Given the description of an element on the screen output the (x, y) to click on. 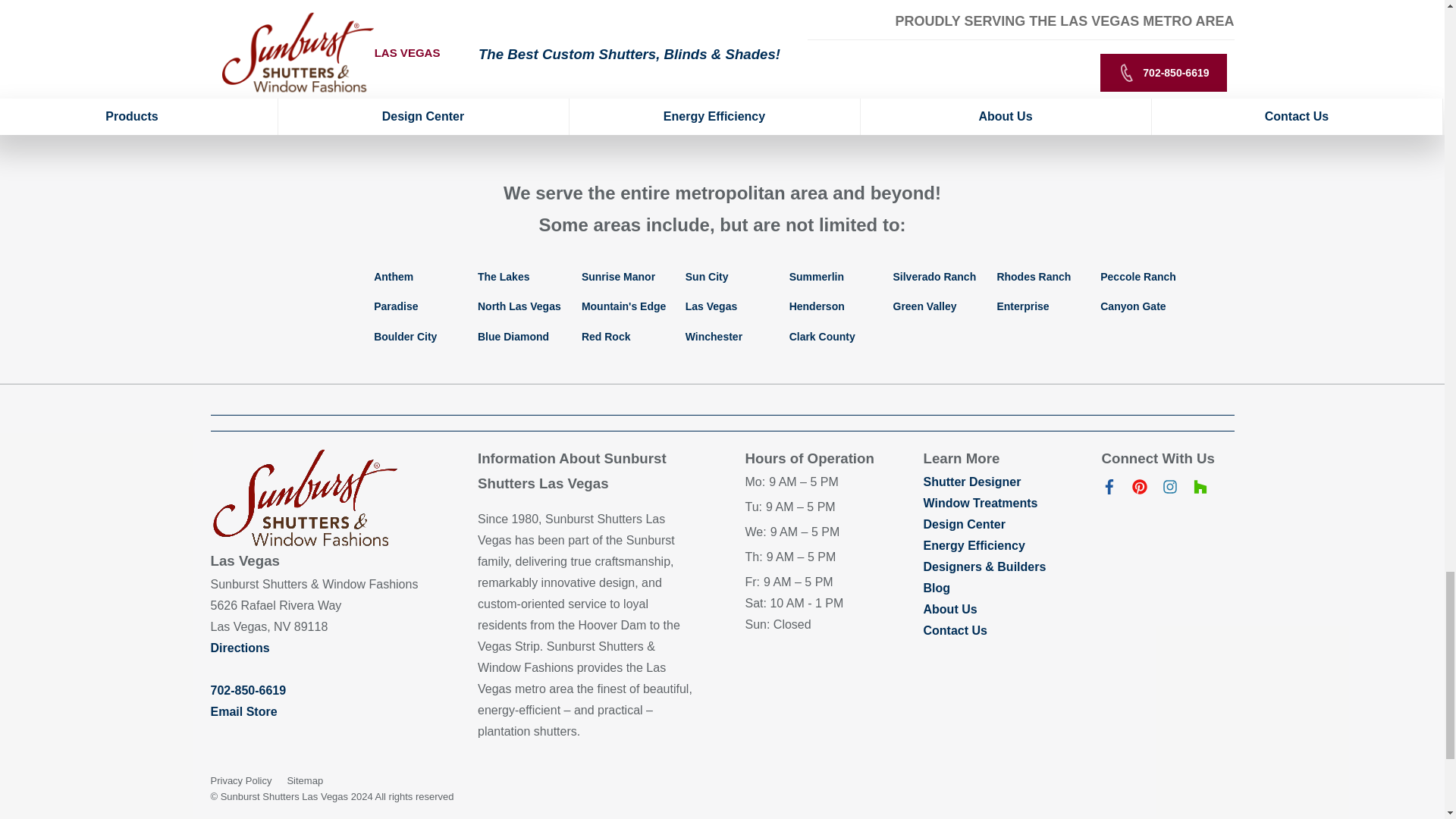
Save us on Houzz (1199, 490)
Follow us on Instagram (1168, 490)
Follow us on Pinterest (1139, 490)
Like us on Facebook (1108, 490)
